Given the description of an element on the screen output the (x, y) to click on. 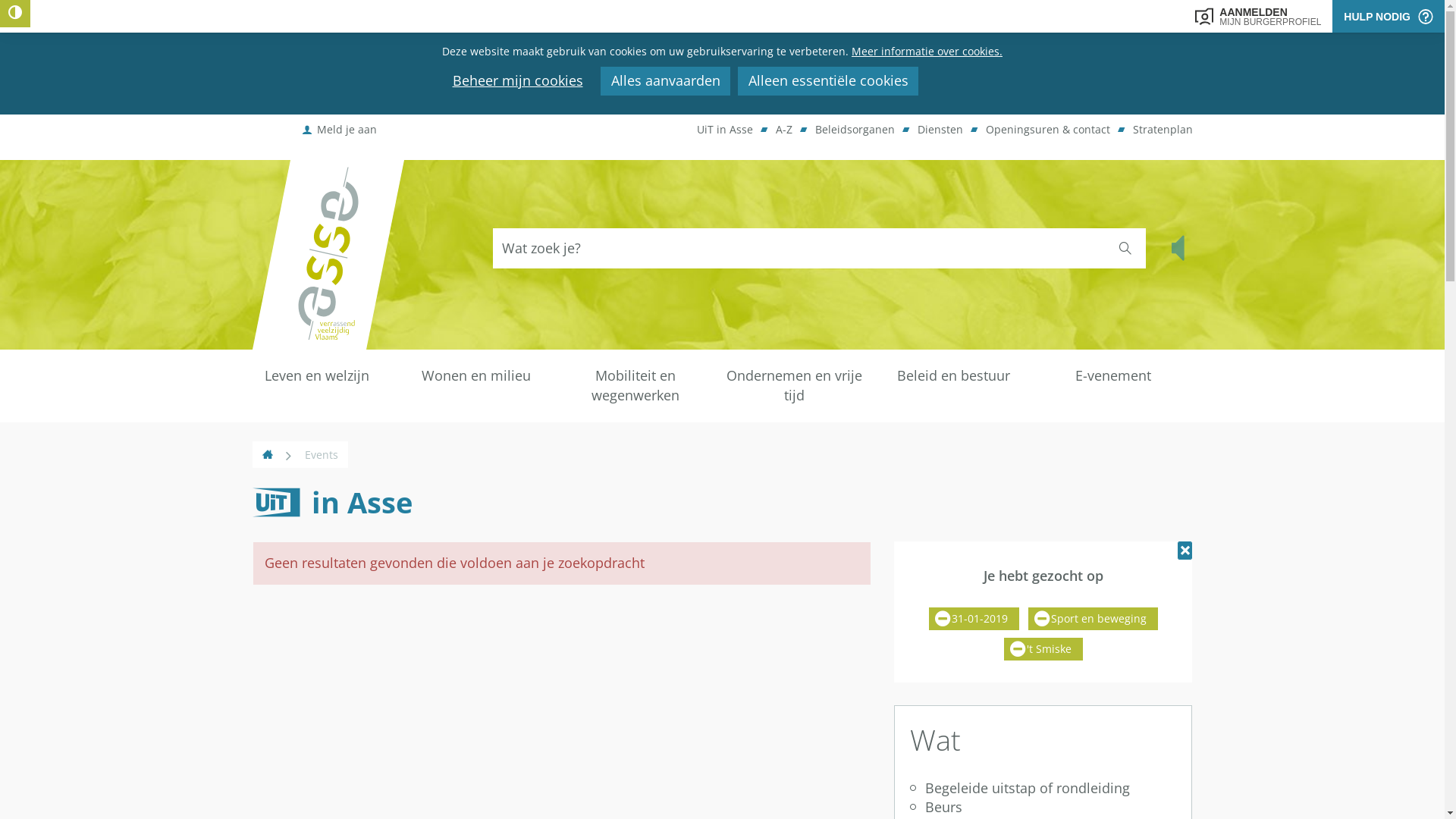
Zoek Element type: text (1125, 248)
Wat zoek je? Element type: hover (798, 248)
Ondernemen en vrije tijd Element type: text (793, 385)
Verwijder Element type: text (1184, 550)
Diensten Element type: text (940, 129)
Mobiliteit en wegenwerken Element type: text (634, 385)
Laat de tekst voorlezen met ReadSpeaker Element type: hover (1179, 248)
E-venement Element type: text (1112, 376)
Hoog contrast Element type: text (15, 13)
Wonen en milieu Element type: text (475, 376)
Meld je aan Element type: text (340, 129)
Begeleide uitstap of rondleiding Element type: text (1043, 788)
Alles aanvaarden Element type: text (665, 80)
Sport en beweging Element type: text (1092, 618)
't Smiske Element type: text (1043, 648)
HULP NODIG Element type: text (1388, 16)
Home Element type: text (266, 454)
Beleid en bestuur Element type: text (952, 376)
31-01-2019 Element type: text (973, 618)
A-Z Element type: text (783, 129)
Naar content Element type: text (432, 77)
Beleidsorganen Element type: text (854, 129)
Gemeente Asse Element type: text (327, 254)
UiT in Asse Element type: text (724, 129)
Beheer mijn cookies Element type: text (517, 80)
Meer informatie over cookies. Element type: text (926, 50)
Openingsuren & contact Element type: text (1047, 129)
Leven en welzijn Element type: text (315, 376)
Beurs Element type: text (1043, 807)
rss Element type: text (251, 517)
Stratenplan Element type: text (1162, 129)
Zoeken Element type: hover (1125, 248)
